Given the description of an element on the screen output the (x, y) to click on. 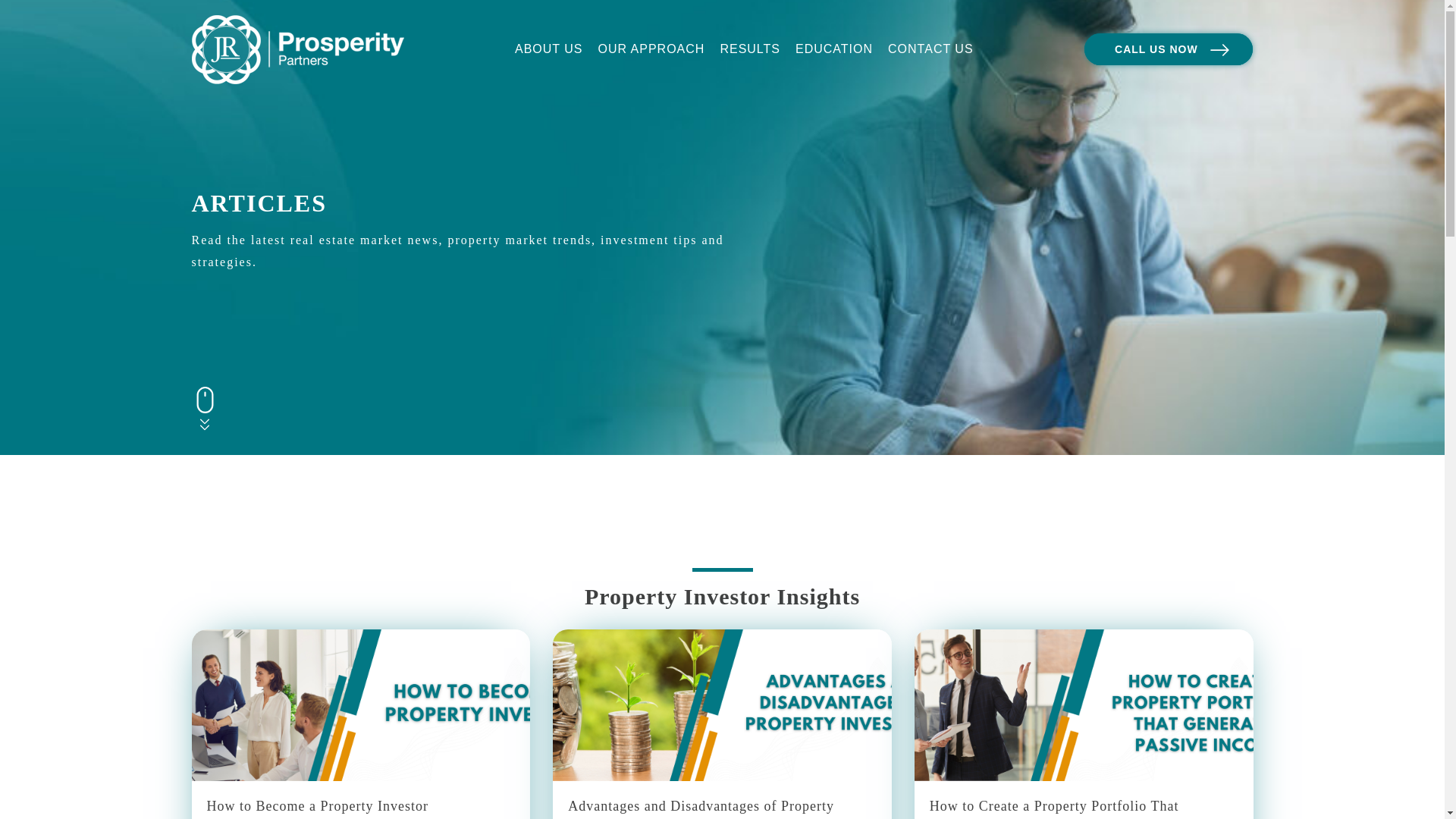
EDUCATION Element type: text (833, 48)
OUR APPROACH Element type: text (650, 48)
CONTACT US Element type: text (930, 48)
ABOUT US Element type: text (548, 48)
CALL US NOW Element type: text (1168, 49)
RESULTS Element type: text (749, 48)
